Given the description of an element on the screen output the (x, y) to click on. 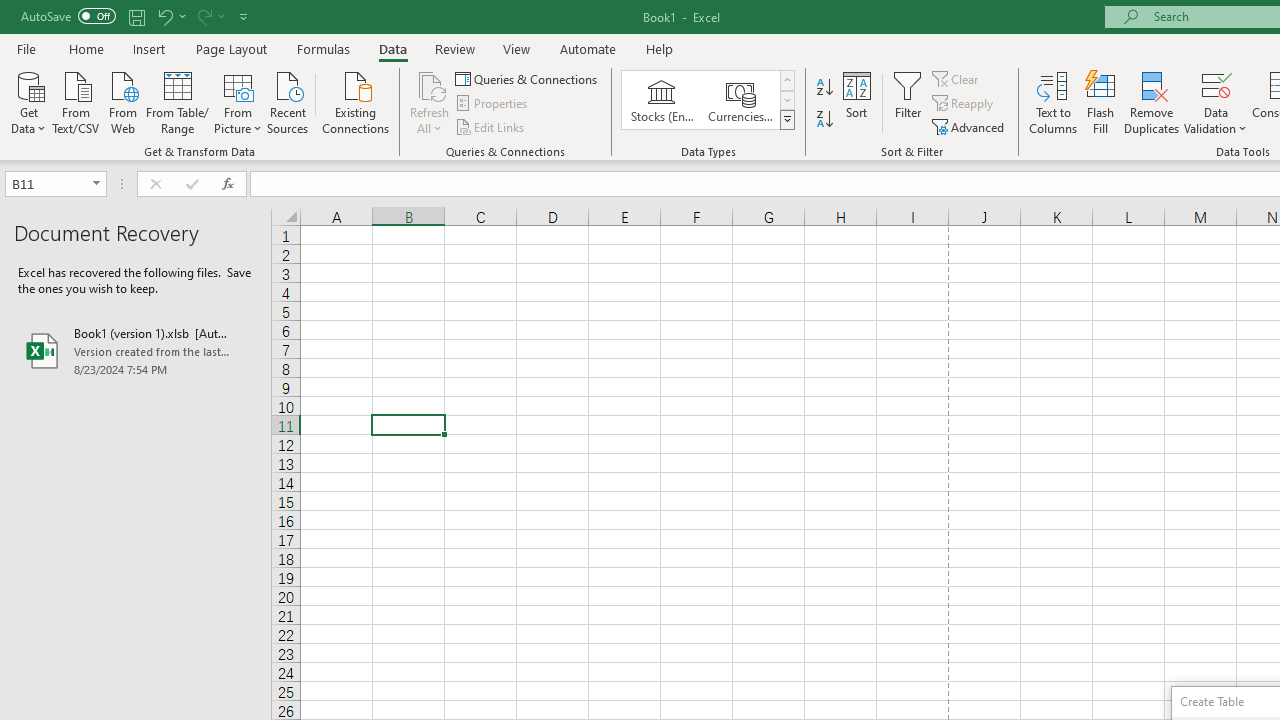
Stocks (English) (662, 100)
Queries & Connections (527, 78)
Sort Z to A (824, 119)
Edit Links (491, 126)
Book1 (version 1).xlsb  [AutoRecovered] (136, 350)
From Picture (238, 101)
